Given the description of an element on the screen output the (x, y) to click on. 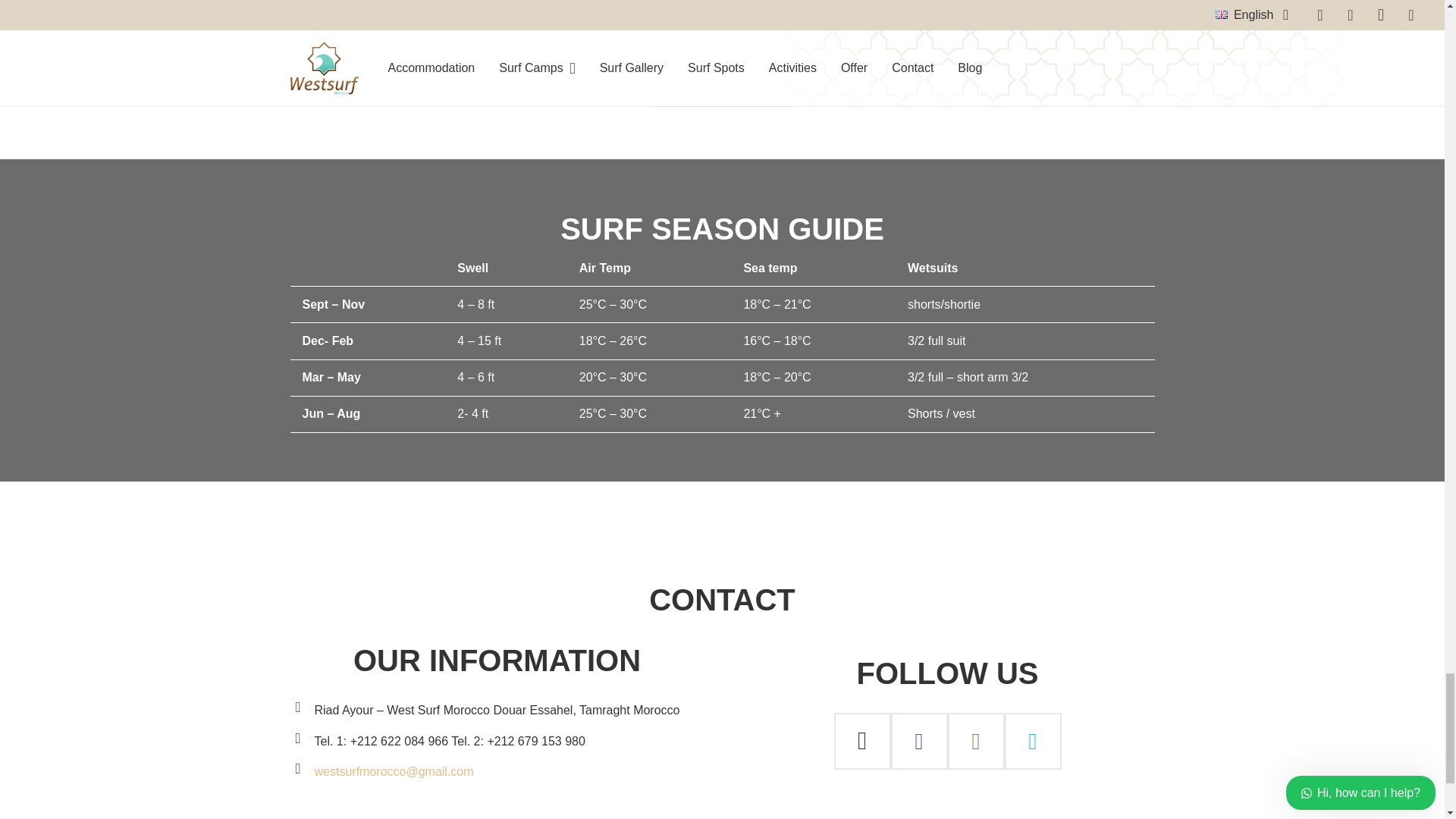
Vimeo (1032, 740)
Surfcamp Erfahrungen (722, 89)
Tripadvisor (975, 740)
Instagram (862, 740)
Facebook (918, 740)
